Given the description of an element on the screen output the (x, y) to click on. 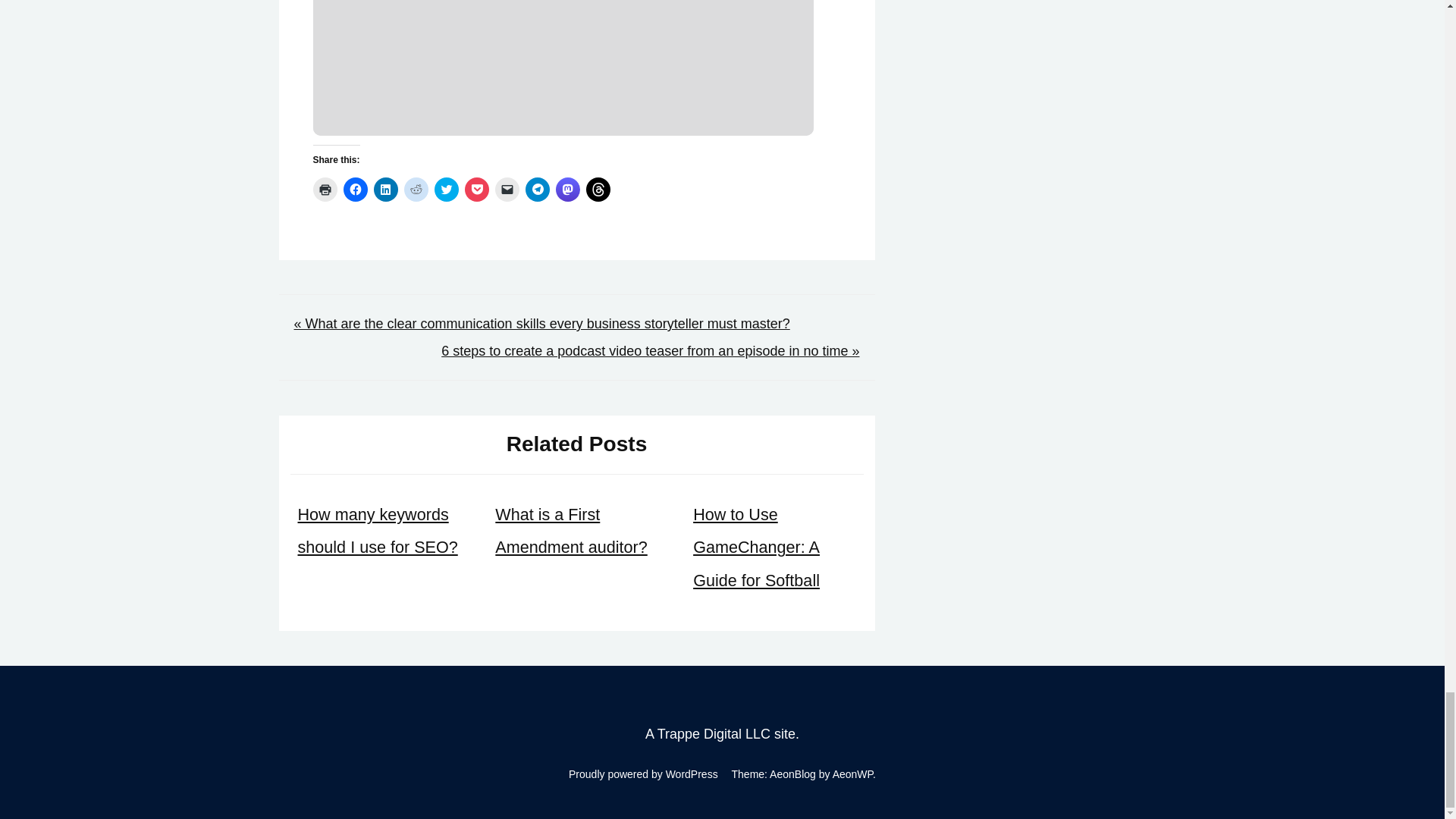
Click to share on Pocket (475, 189)
Click to share on LinkedIn (384, 189)
Click to share on Mastodon (566, 189)
Click to print (324, 189)
Click to share on Twitter (445, 189)
Click to share on Reddit (415, 189)
Click to share on Telegram (536, 189)
Click to share on Facebook (354, 189)
Click to email a link to a friend (506, 189)
Click to share on Threads (597, 189)
